Given the description of an element on the screen output the (x, y) to click on. 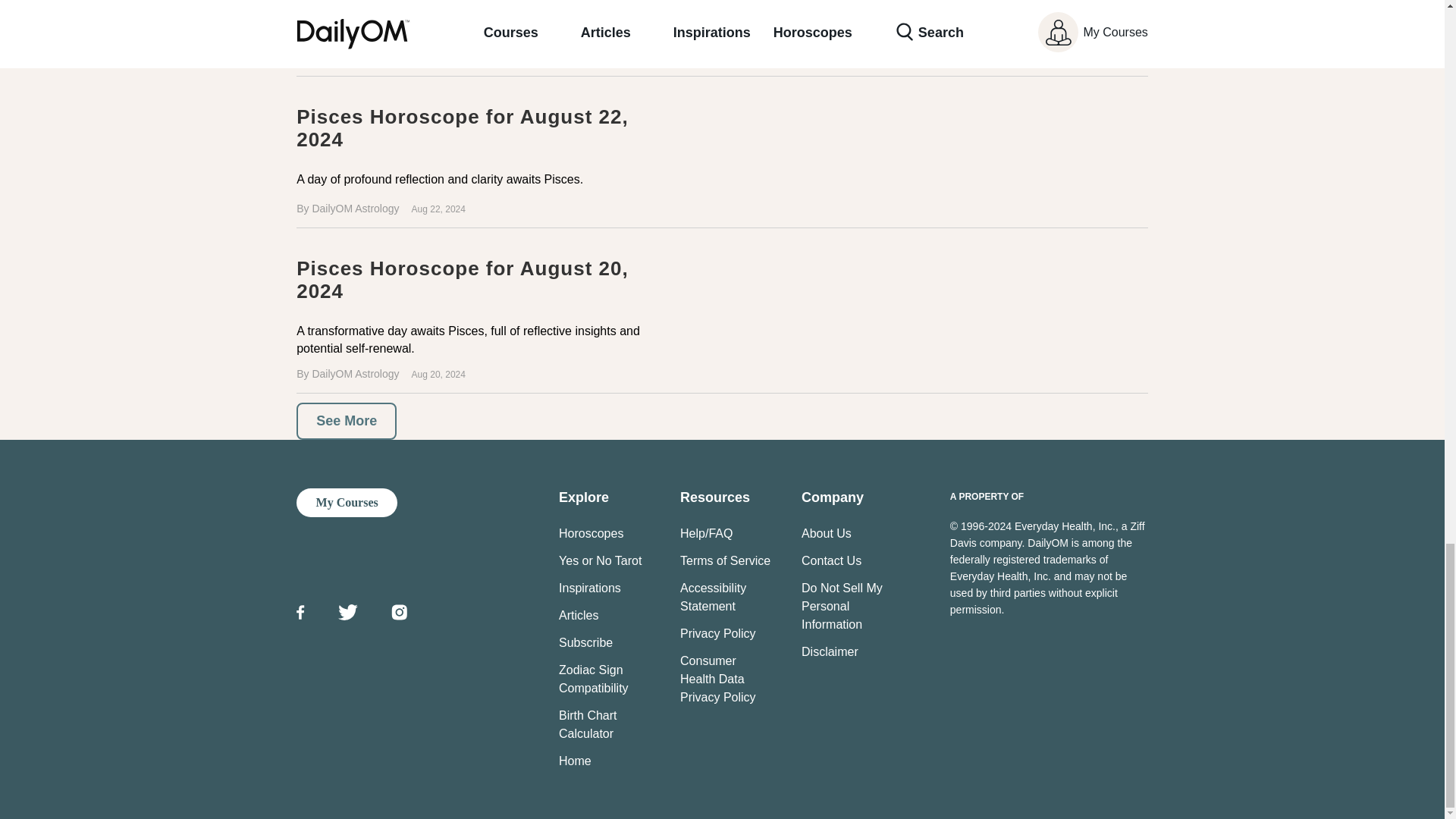
Pisces Horoscope for August 23, 2024 (722, 38)
Subscribe (585, 642)
Inspirations (590, 587)
Pisces Horoscope for August 22, 2024 (722, 156)
See More (346, 420)
Zodiac Sign Compatibility (593, 678)
Yes or No Tarot (600, 560)
Pisces Horoscope for August 20, 2024 (462, 279)
Pisces Horoscope for August 20, 2024 (722, 315)
Articles (578, 615)
